Given the description of an element on the screen output the (x, y) to click on. 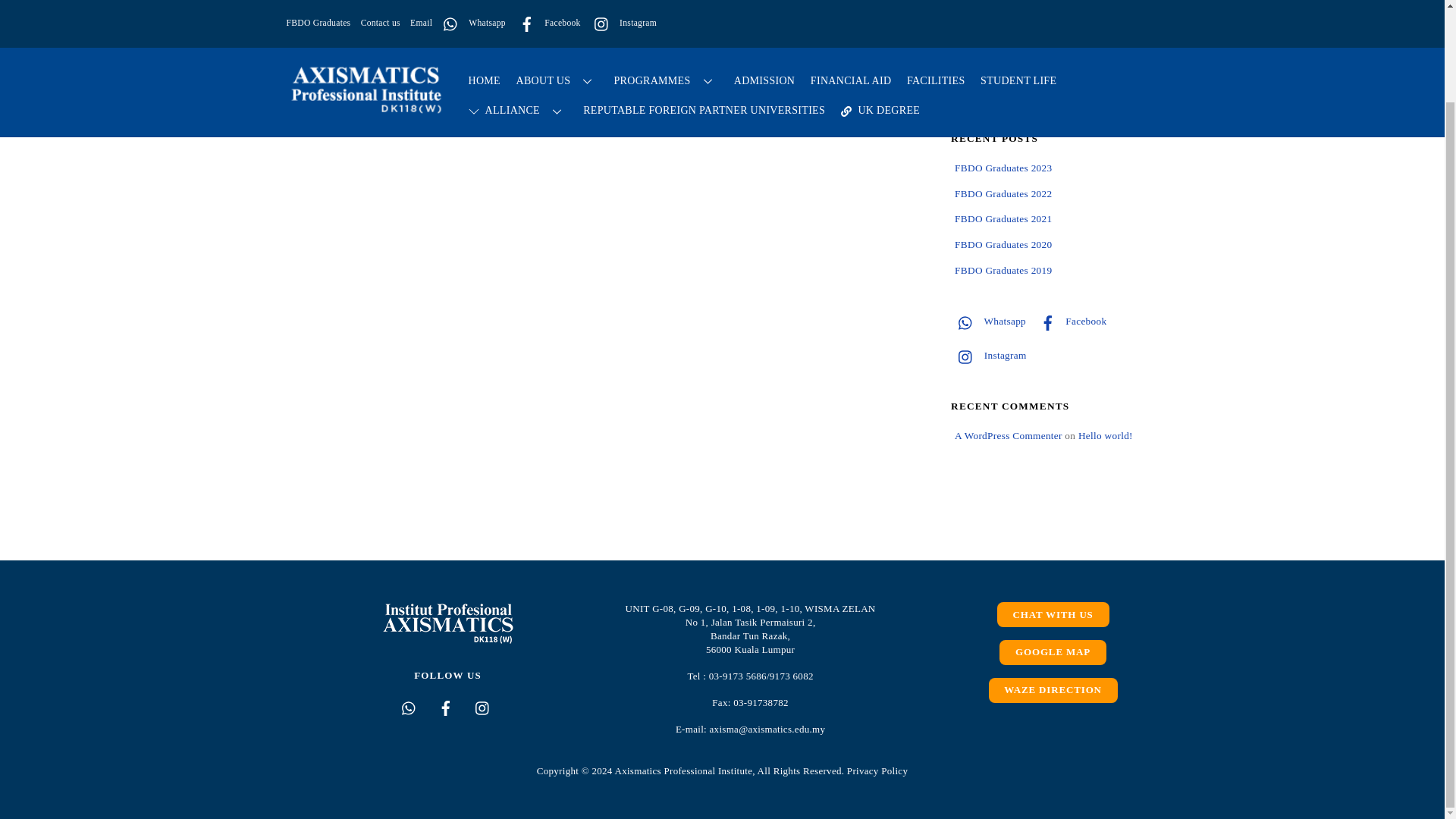
Search (1055, 94)
REPUTABLE FOREIGN PARTNER UNIVERSITIES (703, 10)
Axismatics Professional Institute (365, 6)
FBDO Graduates 2023 (1003, 167)
FBDO Graduates 2021 (1003, 218)
ALLIANCE (517, 10)
FBDO Graduates 2022 (1003, 193)
UK DEGREE (880, 10)
